Given the description of an element on the screen output the (x, y) to click on. 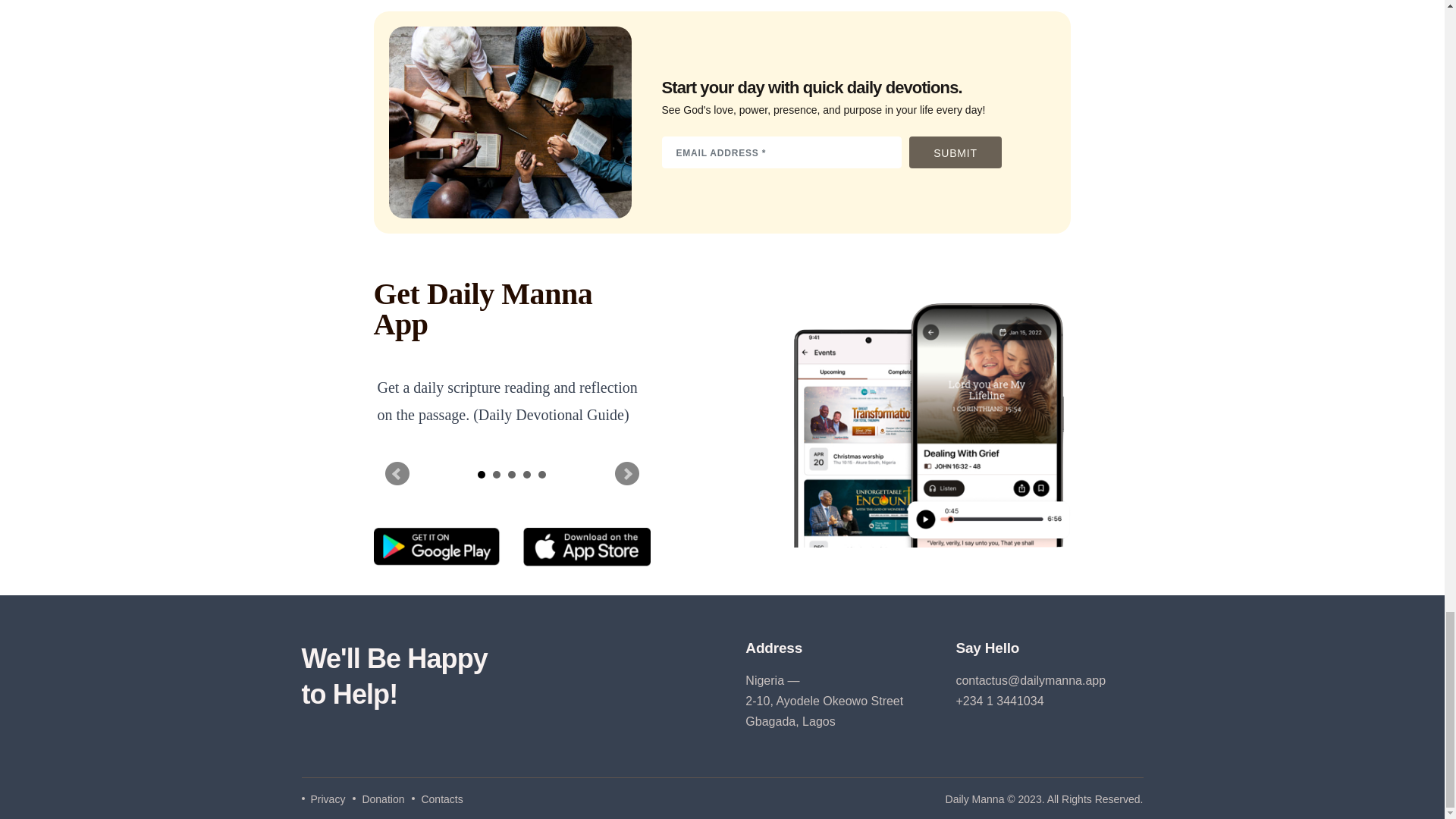
3 (511, 474)
2 (496, 474)
Privacy (323, 798)
4 (526, 474)
SUBMIT (954, 152)
Donation (378, 798)
Contacts (437, 798)
5 (542, 474)
Next (626, 473)
1 (480, 474)
Prev (397, 473)
